Given the description of an element on the screen output the (x, y) to click on. 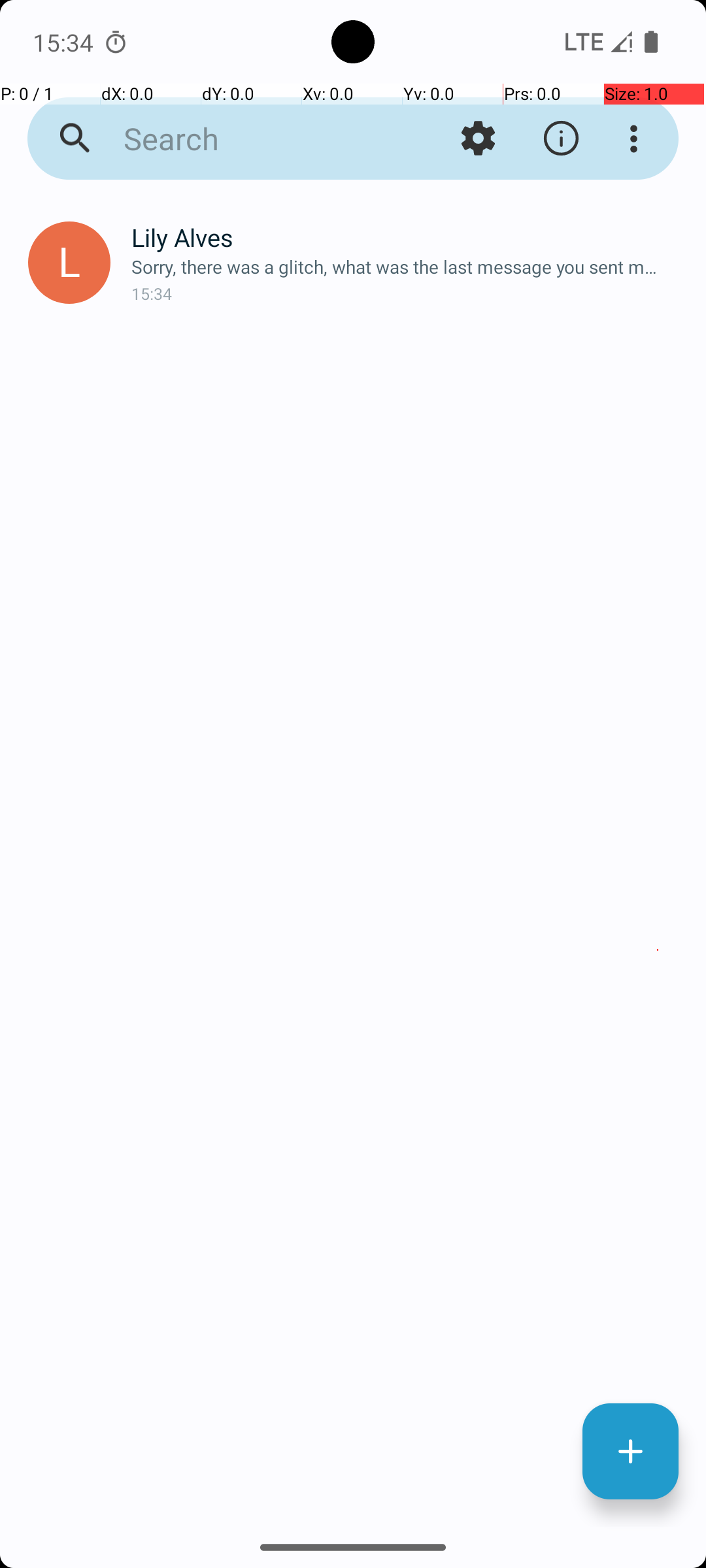
Lily Alves Element type: android.widget.TextView (408, 237)
